Given the description of an element on the screen output the (x, y) to click on. 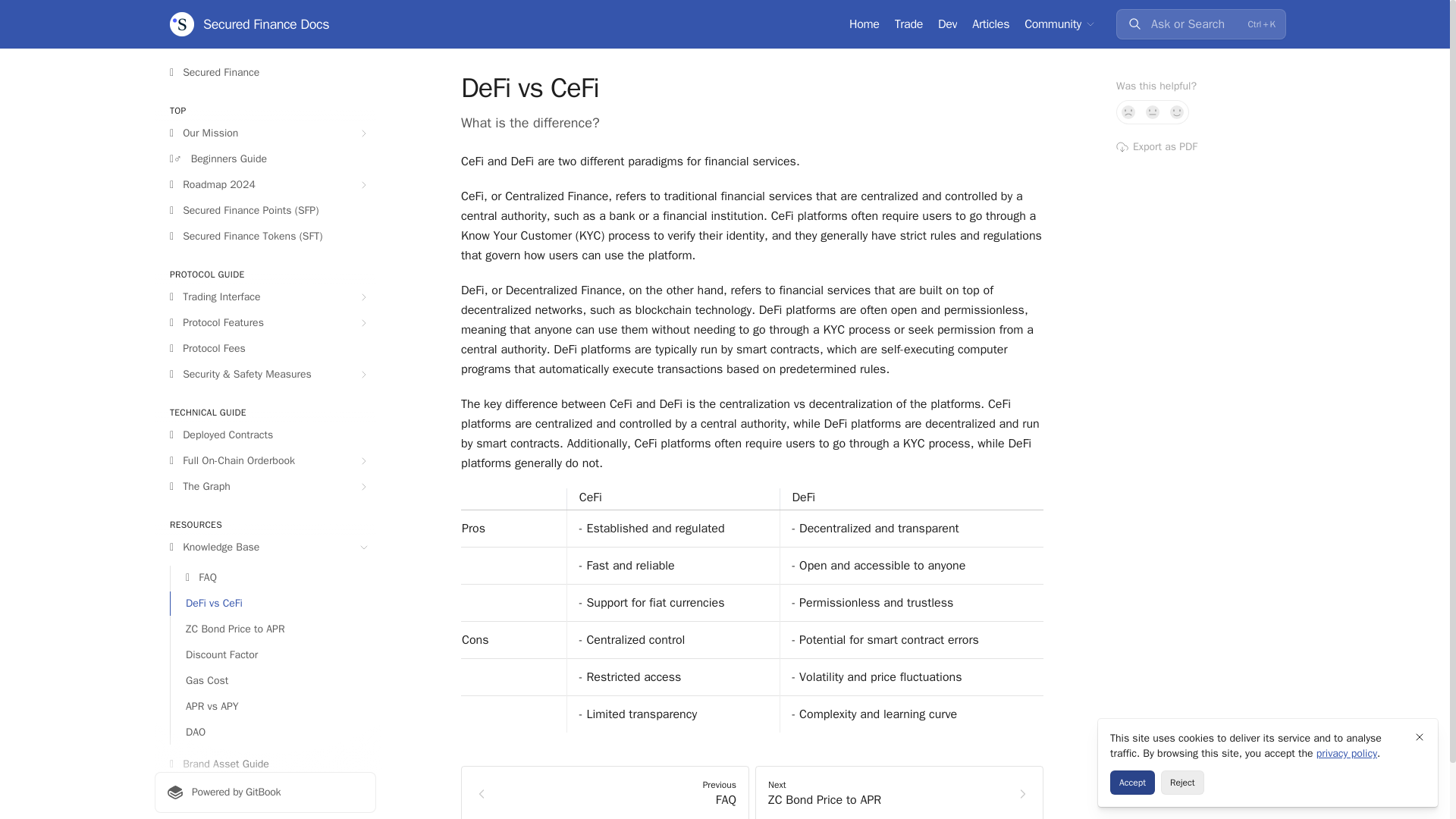
No (1200, 433)
Home (1128, 111)
Articles (863, 24)
Dev (990, 24)
Community (946, 24)
Secured Finance Docs (1060, 24)
Close (249, 24)
Yes, it was! (1419, 737)
Trade (1176, 111)
Not sure (909, 24)
